Given the description of an element on the screen output the (x, y) to click on. 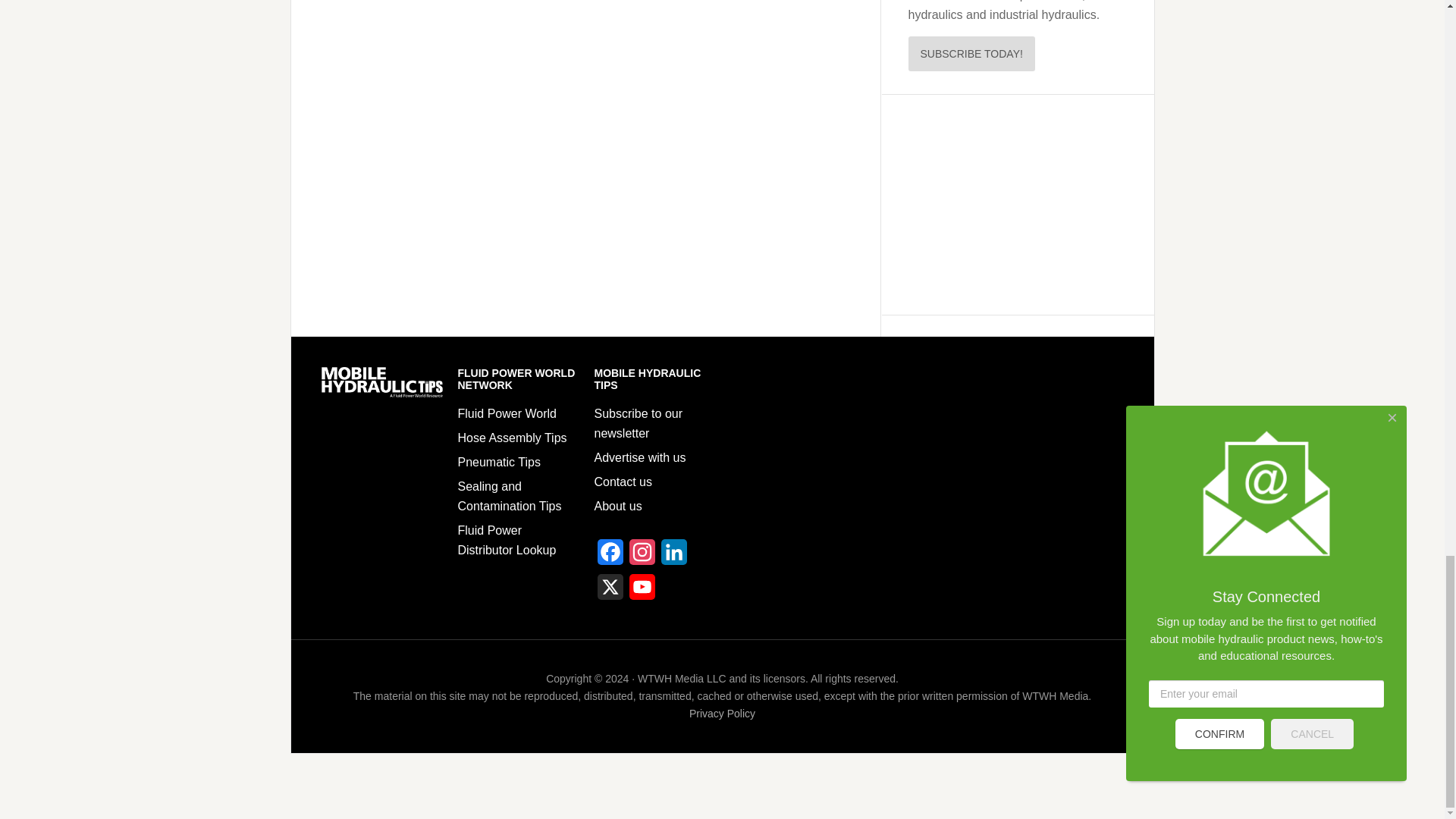
X (610, 591)
Instagram (642, 556)
YouTube Channel (642, 591)
SUBSCRIBE TODAY! (971, 52)
LinkedIn Company (674, 556)
Fluid Power World (507, 413)
Facebook (610, 556)
3rd party ad content (1010, 204)
SUBSCRIBE TODAY! (971, 53)
